Given the description of an element on the screen output the (x, y) to click on. 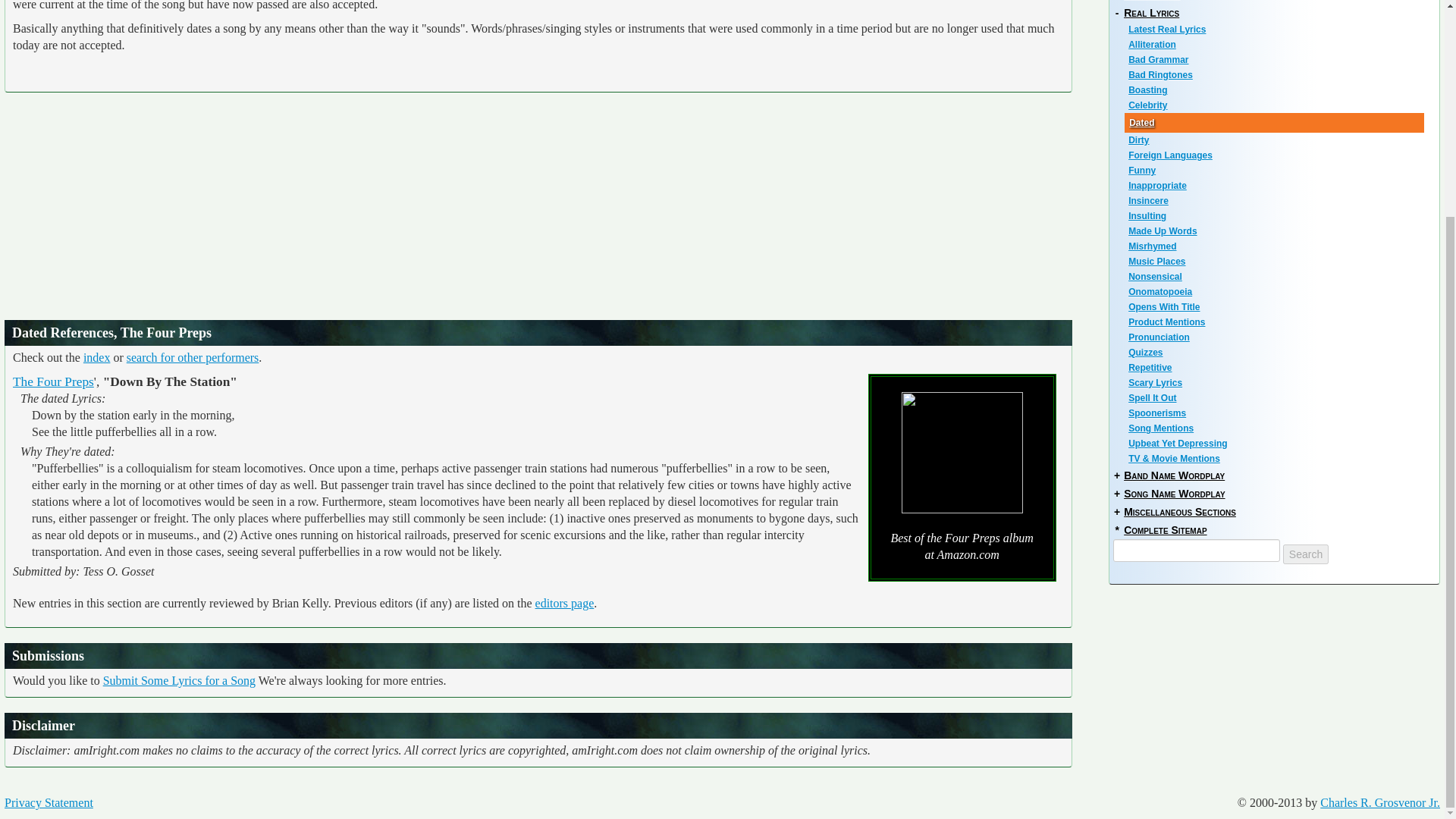
Search (1304, 553)
Celebrity (1275, 105)
Insulting (1275, 215)
Misrhymed (1275, 246)
Opens With Title (1275, 306)
Foreign Languages (1275, 155)
Made Up Words (1275, 231)
Dirty (1275, 140)
Quizzes (1275, 352)
Submit Some Lyrics for a Song (179, 680)
Music Places (1275, 261)
Insincere (1275, 200)
Latest Real Lyrics (1275, 29)
Song lyrics for The Four Preps (53, 381)
Bad Ringtones (1275, 74)
